Given the description of an element on the screen output the (x, y) to click on. 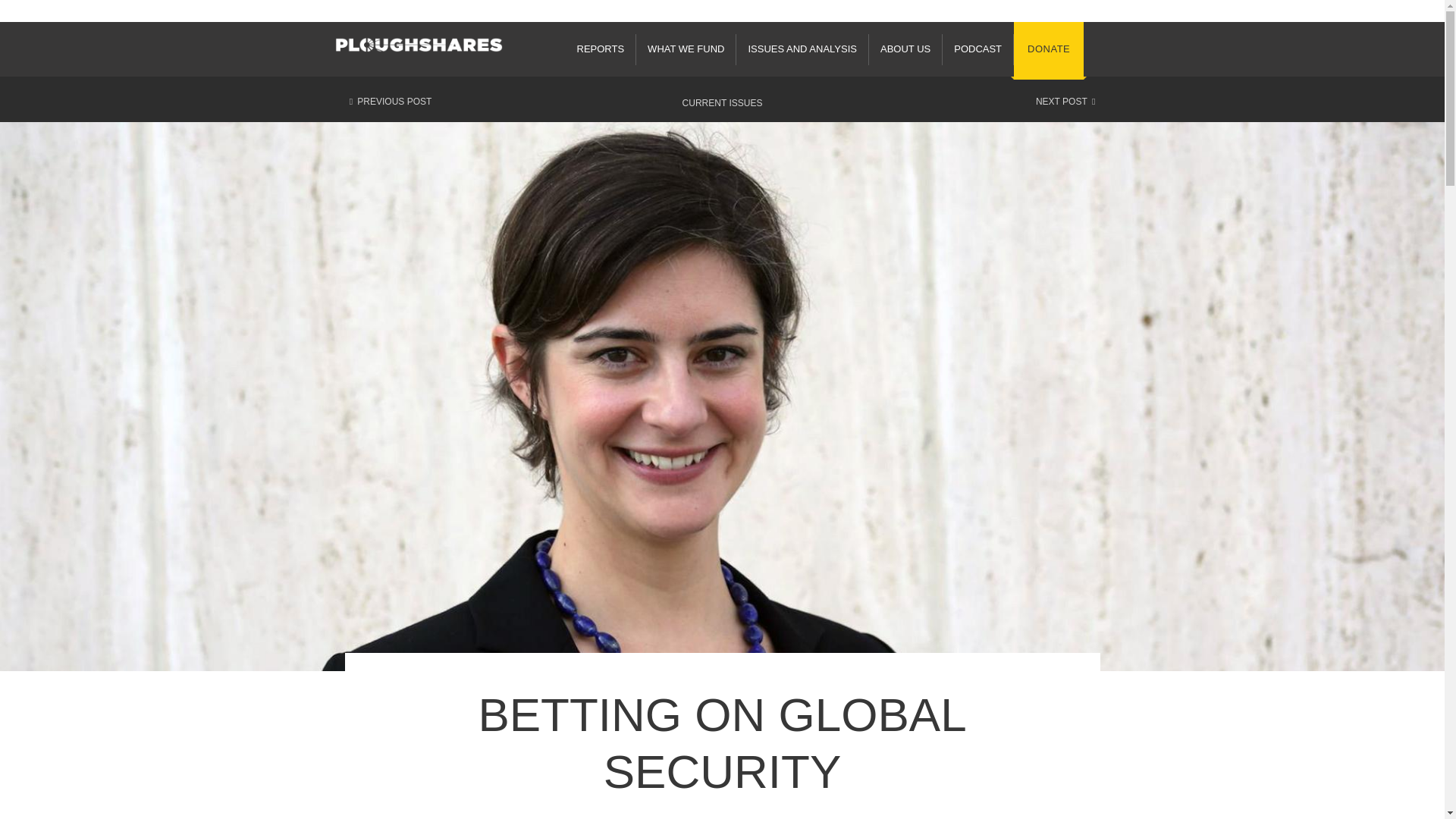
ISSUES AND ANALYSIS (802, 49)
ABOUT US (905, 49)
Home (418, 44)
WHAT WE FUND (686, 49)
REPORTS (601, 49)
